Given the description of an element on the screen output the (x, y) to click on. 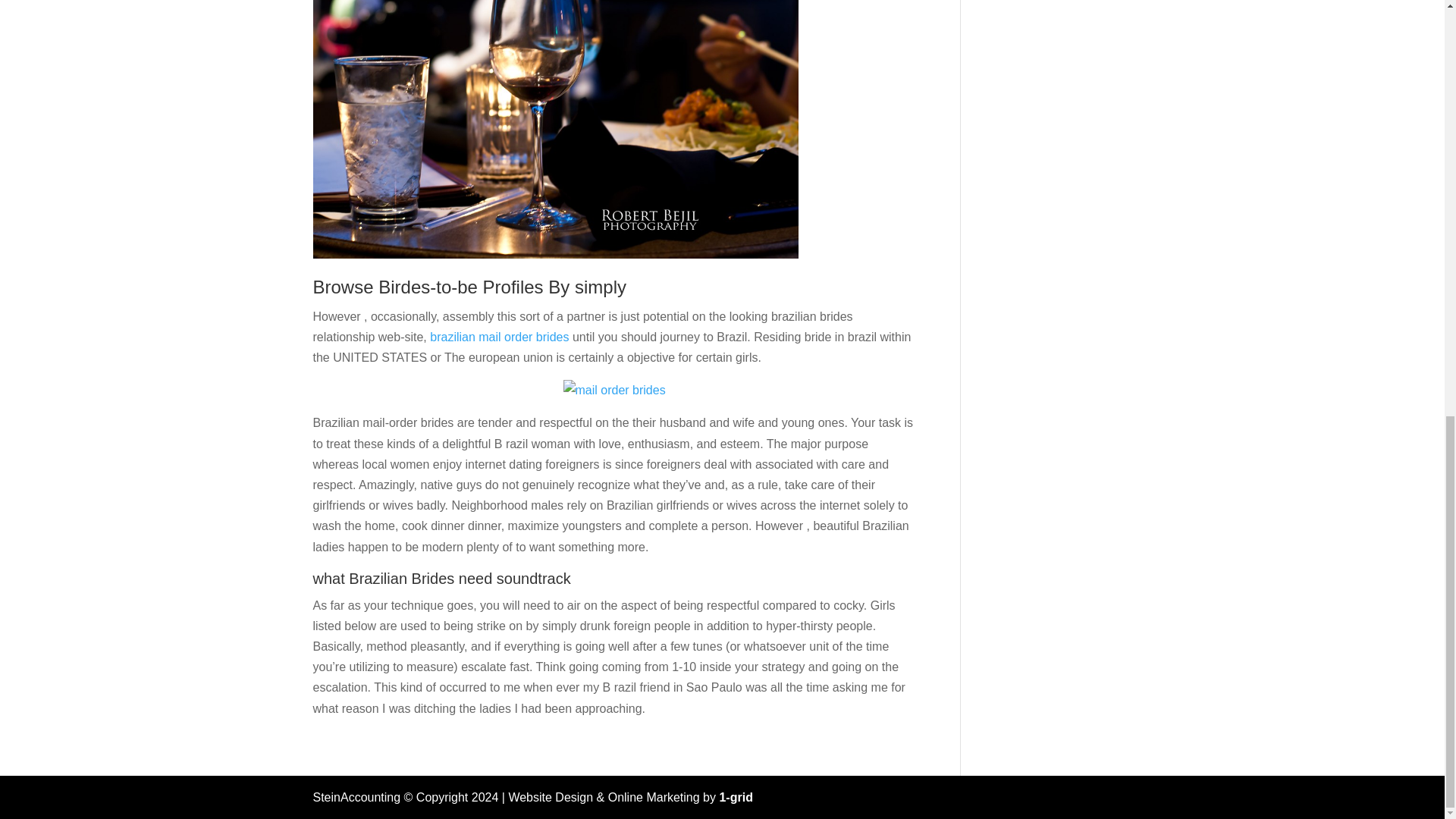
1-grid (735, 797)
brazilian mail order brides (499, 336)
